Given the description of an element on the screen output the (x, y) to click on. 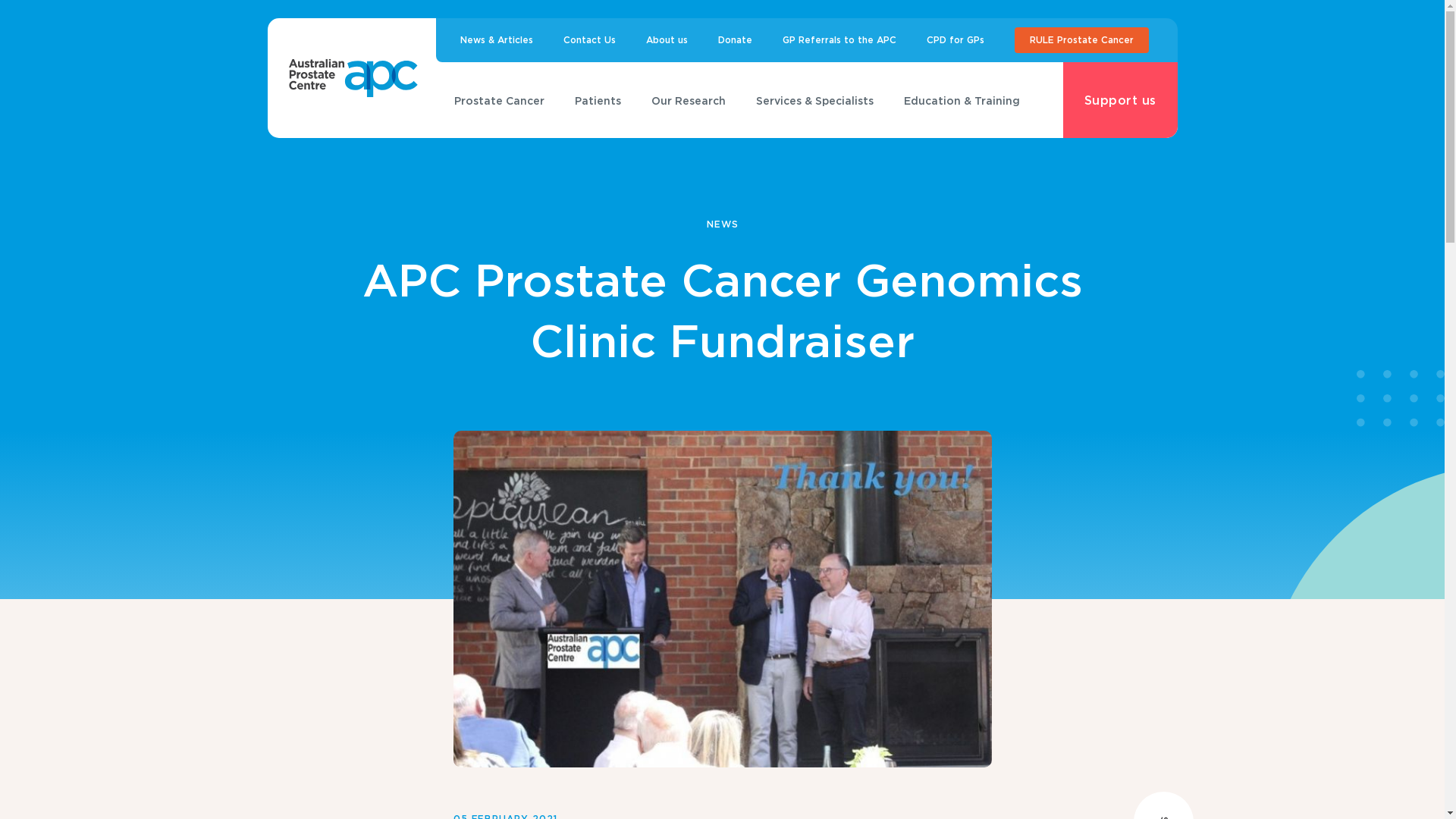
Our Research Element type: text (687, 100)
RULE Prostate Cancer Element type: text (1081, 40)
Support us Element type: text (1120, 100)
CPD for GPs Element type: text (955, 40)
GP Referrals to the APC Element type: text (839, 40)
Prostate Cancer Element type: text (498, 100)
News & Articles Element type: text (495, 40)
Donate Element type: text (734, 40)
Patients Element type: text (597, 100)
Services & Specialists Element type: text (814, 100)
Education & Training Element type: text (961, 100)
Contact Us Element type: text (588, 40)
About us Element type: text (666, 40)
